Given the description of an element on the screen output the (x, y) to click on. 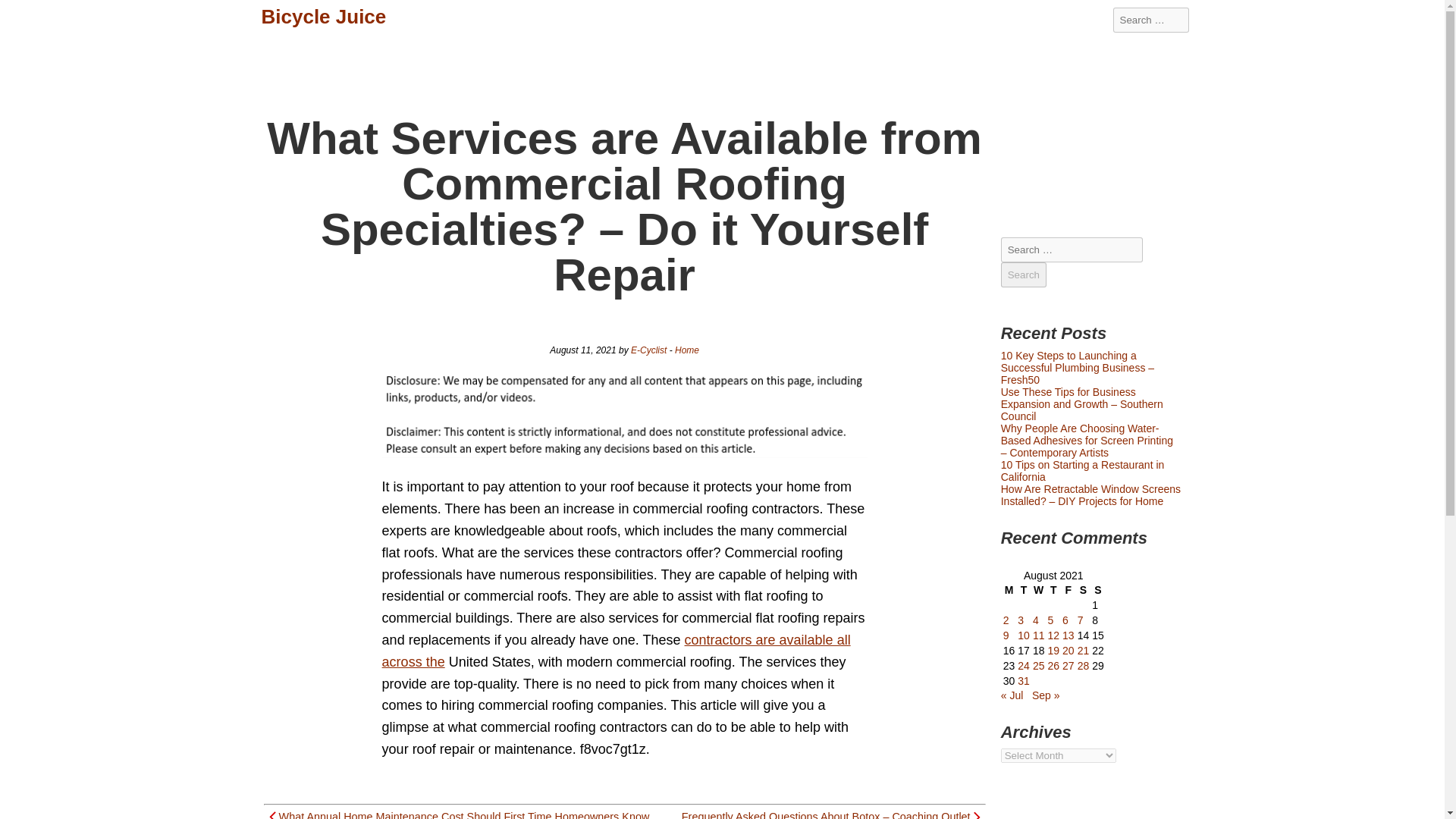
Monday (1009, 590)
9 (1006, 635)
6 (1065, 620)
Tuesday (1023, 590)
Home (686, 349)
E-Cyclist (648, 349)
Search (1023, 274)
25 (1038, 665)
Wednesday (1038, 590)
contractors are available all across the (615, 650)
7 (1080, 620)
Search (1023, 274)
Search (1023, 274)
Bicycle Juice (323, 16)
